Given the description of an element on the screen output the (x, y) to click on. 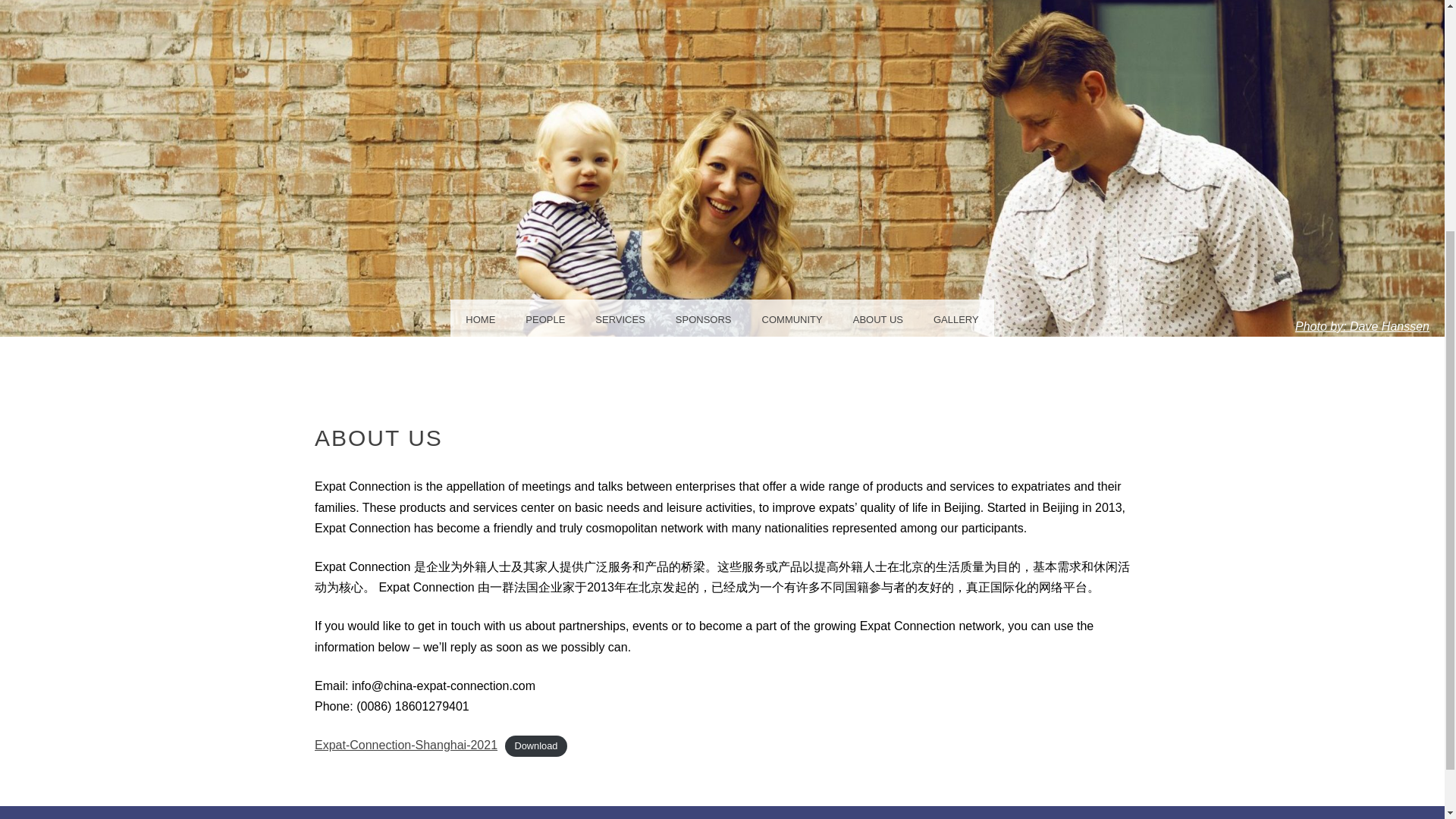
COMMUNITY (792, 317)
PEOPLE (545, 317)
HOME (480, 317)
ABOUT US (878, 317)
SPONSORS (703, 317)
SERVICES (620, 317)
Photo by: Dave Hanssen (1362, 326)
Expat-Connection-Shanghai-2021 (405, 744)
Download (536, 745)
Skip to content (59, 317)
